Given the description of an element on the screen output the (x, y) to click on. 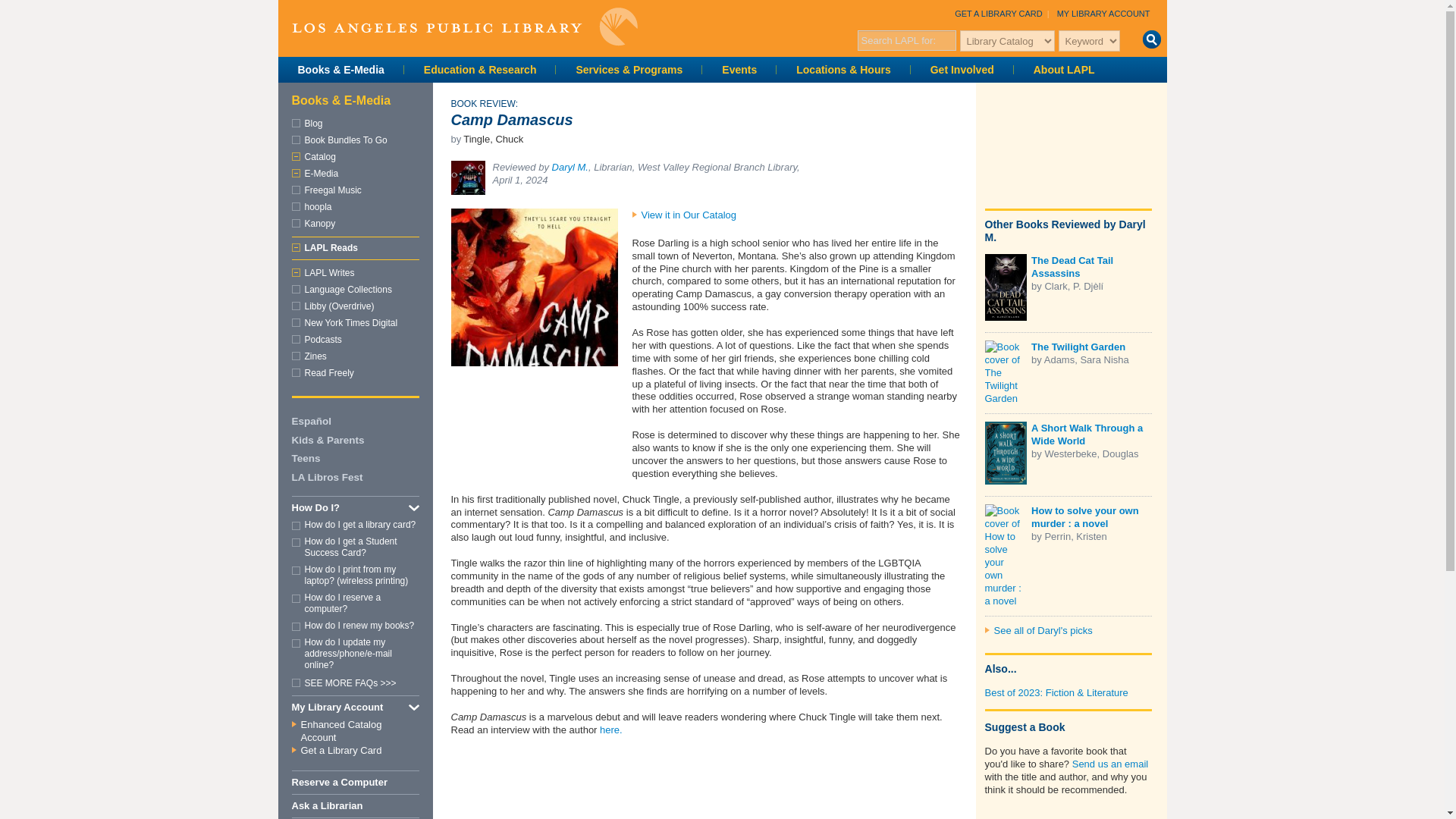
MY LIBRARY ACCOUNT (1103, 13)
My Library Account (1103, 13)
Get a Library Card (998, 13)
Home (464, 26)
GET A LIBRARY CARD (998, 13)
Find It (1150, 39)
Catalog (320, 156)
Find It (1150, 39)
Los Angeles Public Library (464, 26)
